Given the description of an element on the screen output the (x, y) to click on. 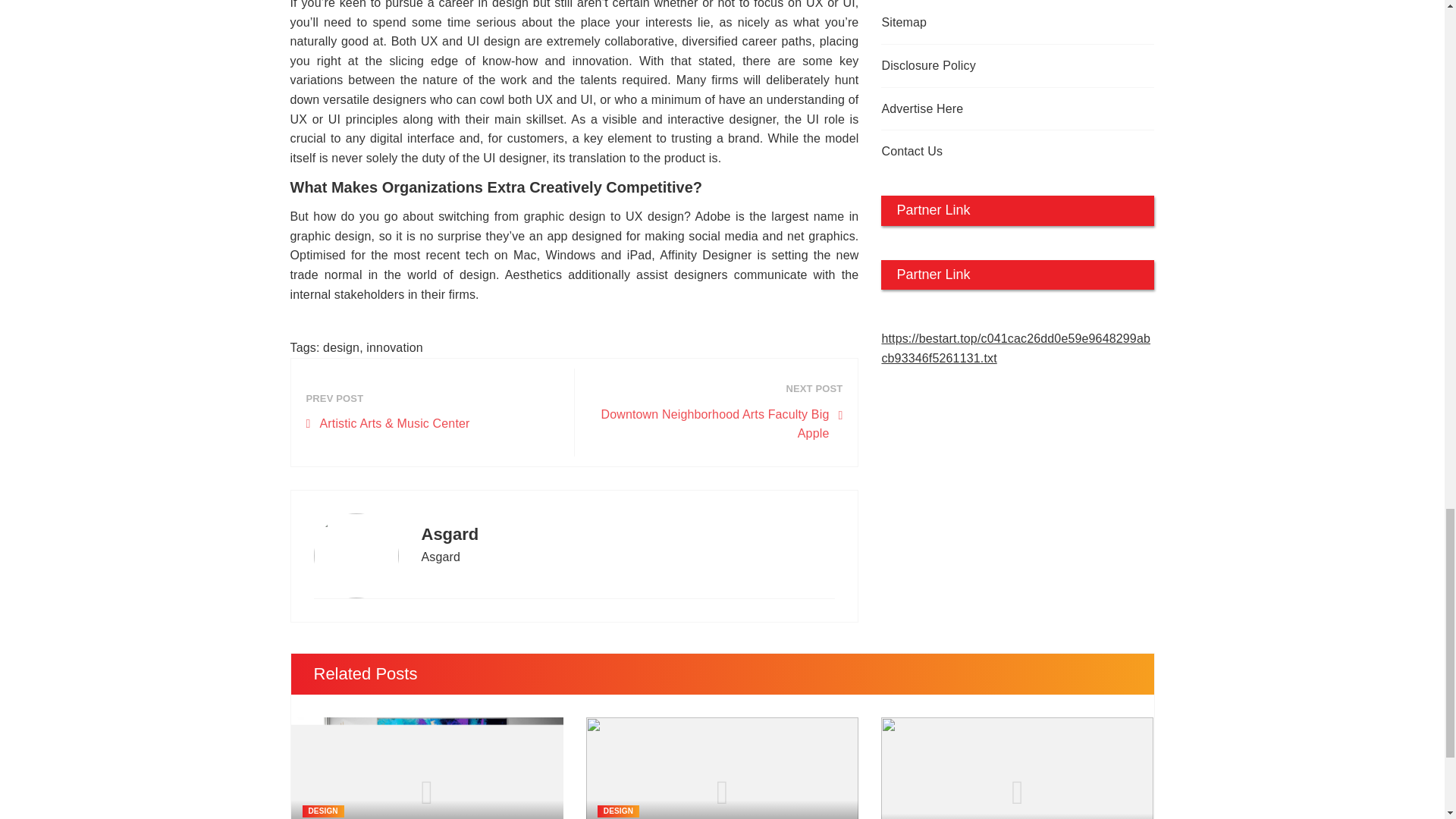
design (341, 347)
Downtown Neighborhood Arts Faculty Big Apple (716, 423)
innovation (394, 347)
